Given the description of an element on the screen output the (x, y) to click on. 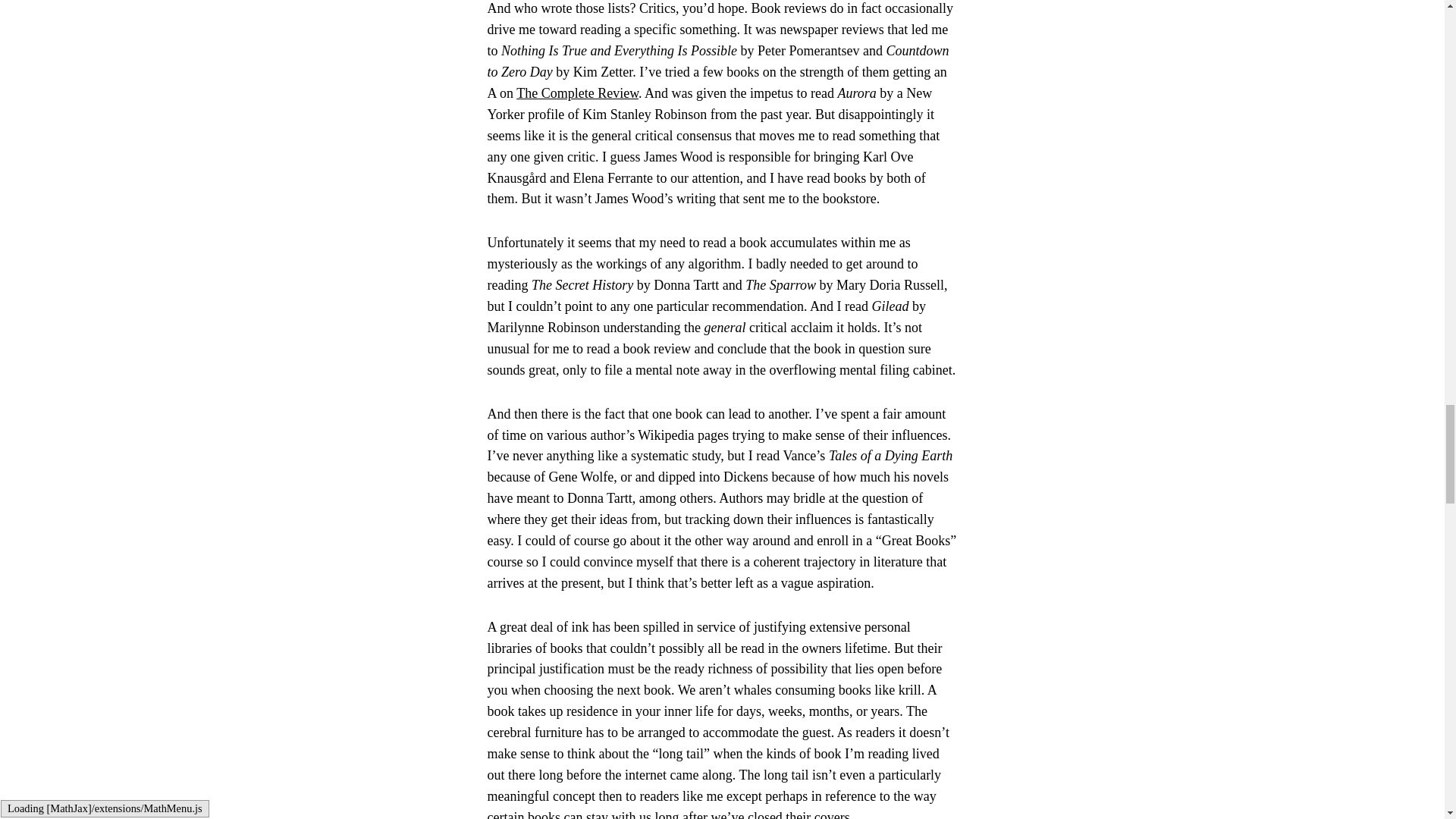
The Complete Review (577, 92)
